Given the description of an element on the screen output the (x, y) to click on. 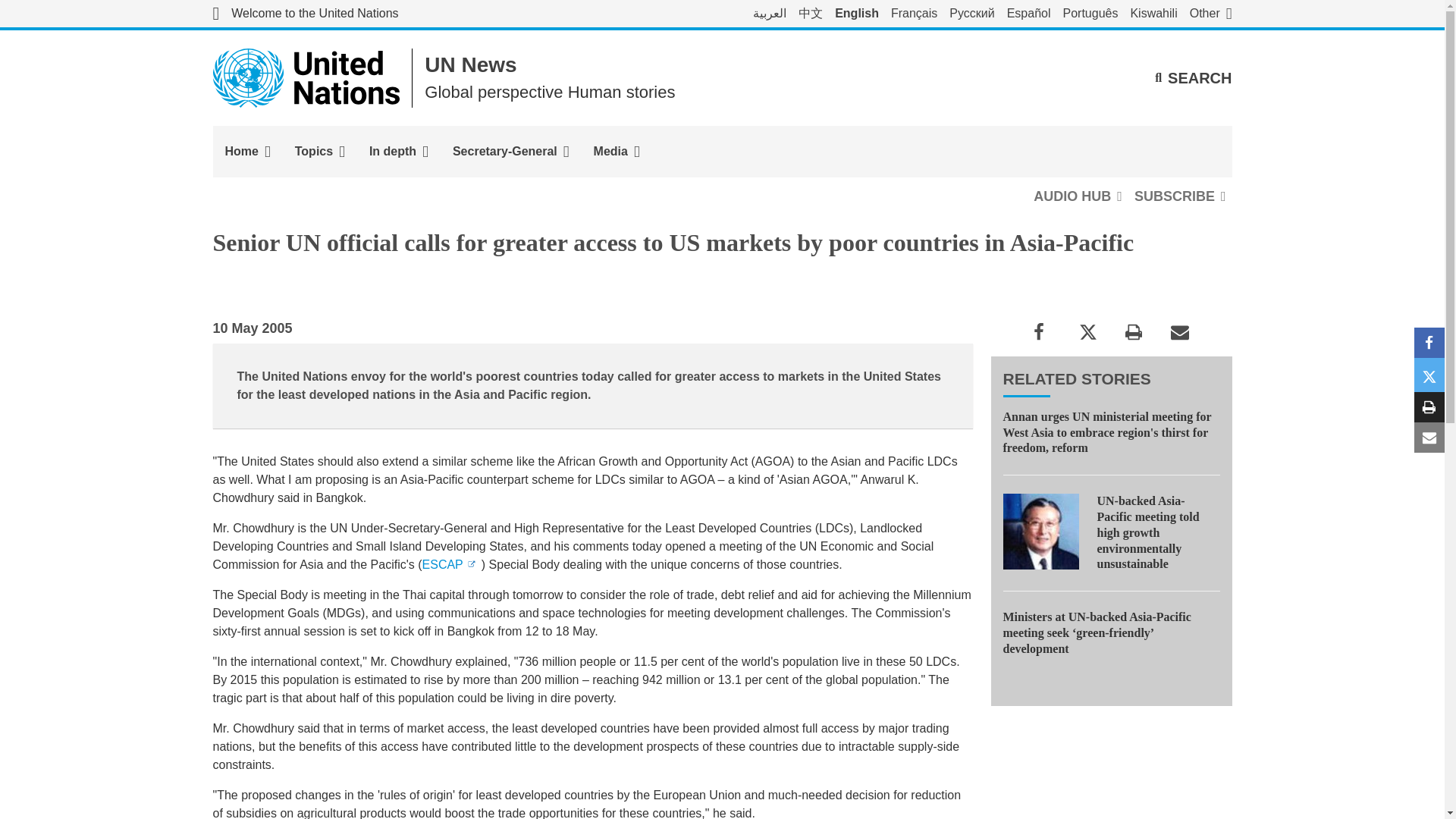
Topics (319, 151)
UN News (470, 64)
United Nations (305, 76)
UN News (470, 64)
Welcome to the United Nations (304, 13)
Kiswahili (1152, 13)
Home (247, 151)
SEARCH (1192, 77)
Home (247, 151)
Other (1210, 13)
